Given the description of an element on the screen output the (x, y) to click on. 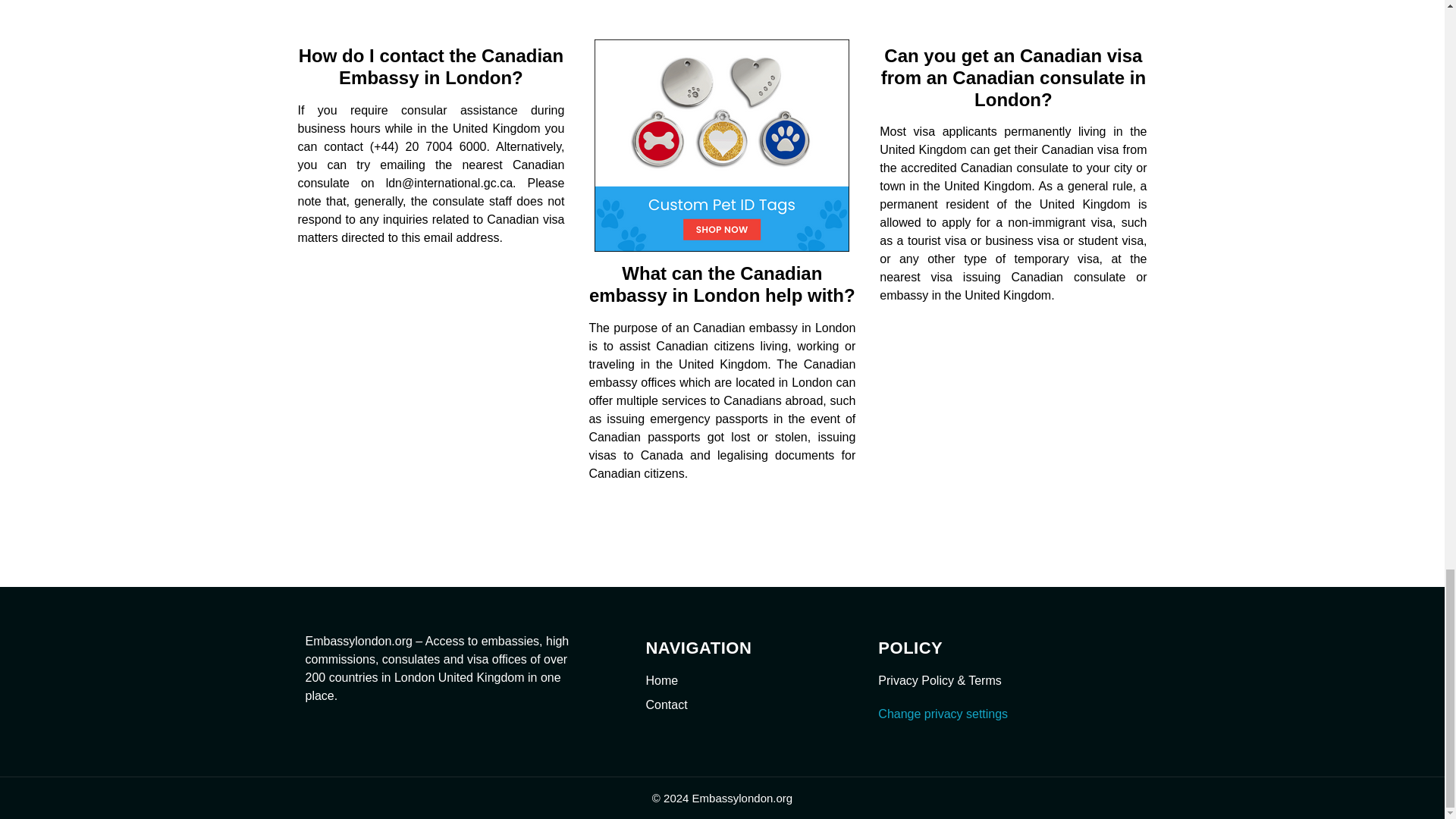
Change privacy settings (942, 713)
Contact (746, 705)
Home (746, 680)
